Given the description of an element on the screen output the (x, y) to click on. 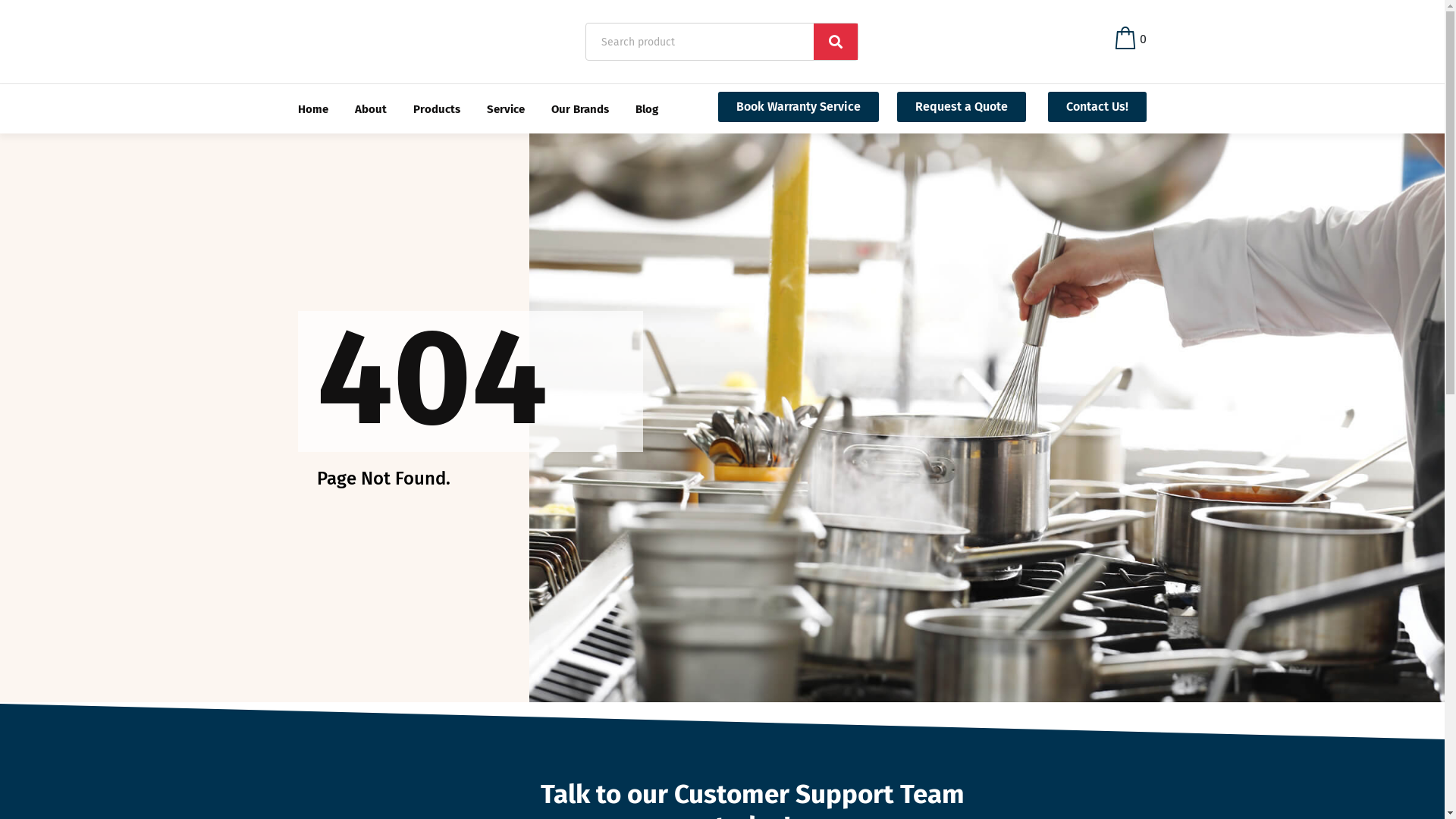
Blog Element type: text (646, 108)
Our Brands Element type: text (578, 108)
0 Element type: text (1130, 39)
About Element type: text (370, 108)
Book Warranty Service Element type: text (798, 106)
Home Element type: text (312, 108)
Service Element type: text (505, 108)
Contact Us! Element type: text (1097, 106)
Products Element type: text (435, 108)
Request a Quote Element type: text (961, 106)
